Given the description of an element on the screen output the (x, y) to click on. 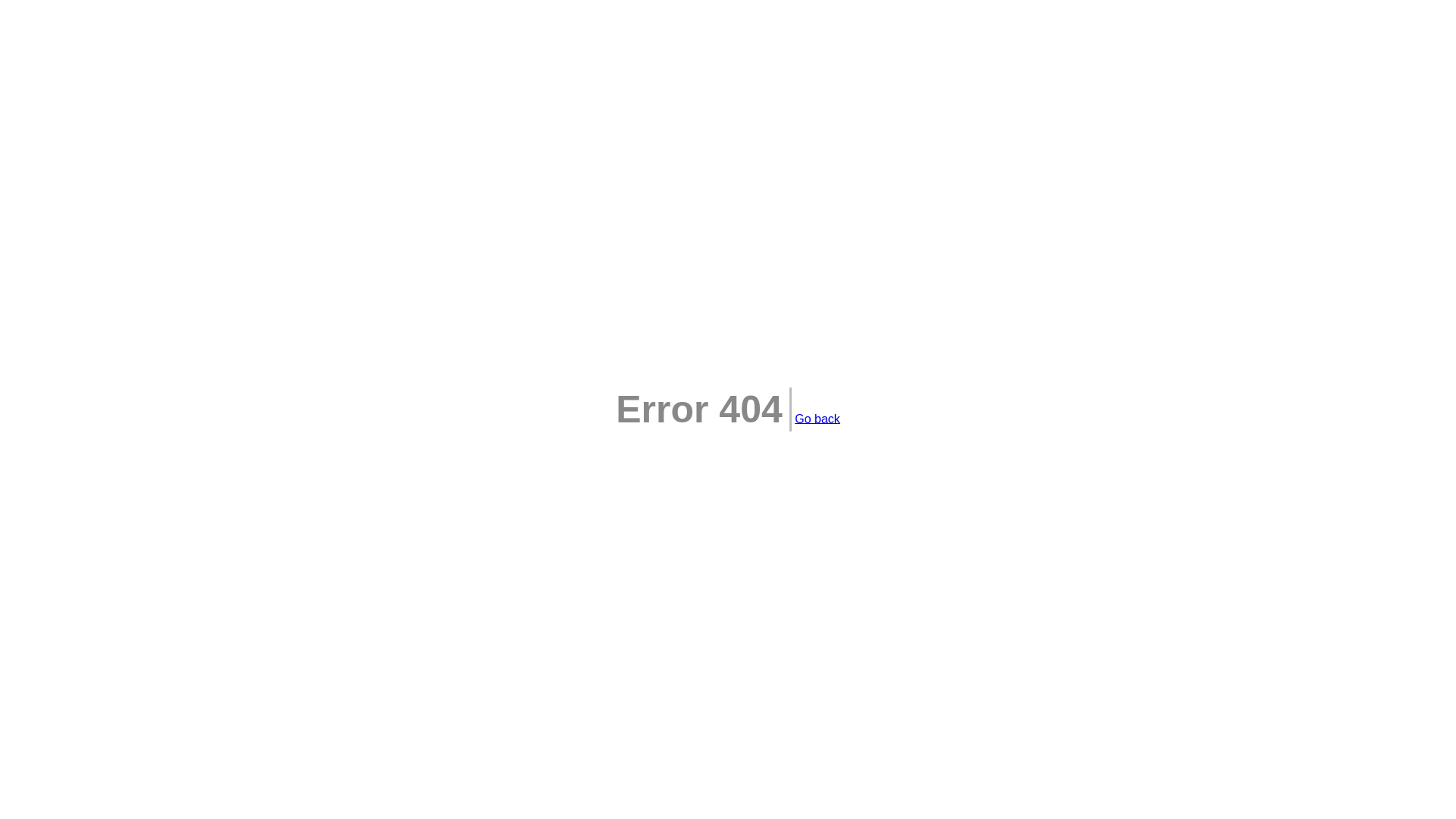
Go back Element type: text (817, 417)
